Given the description of an element on the screen output the (x, y) to click on. 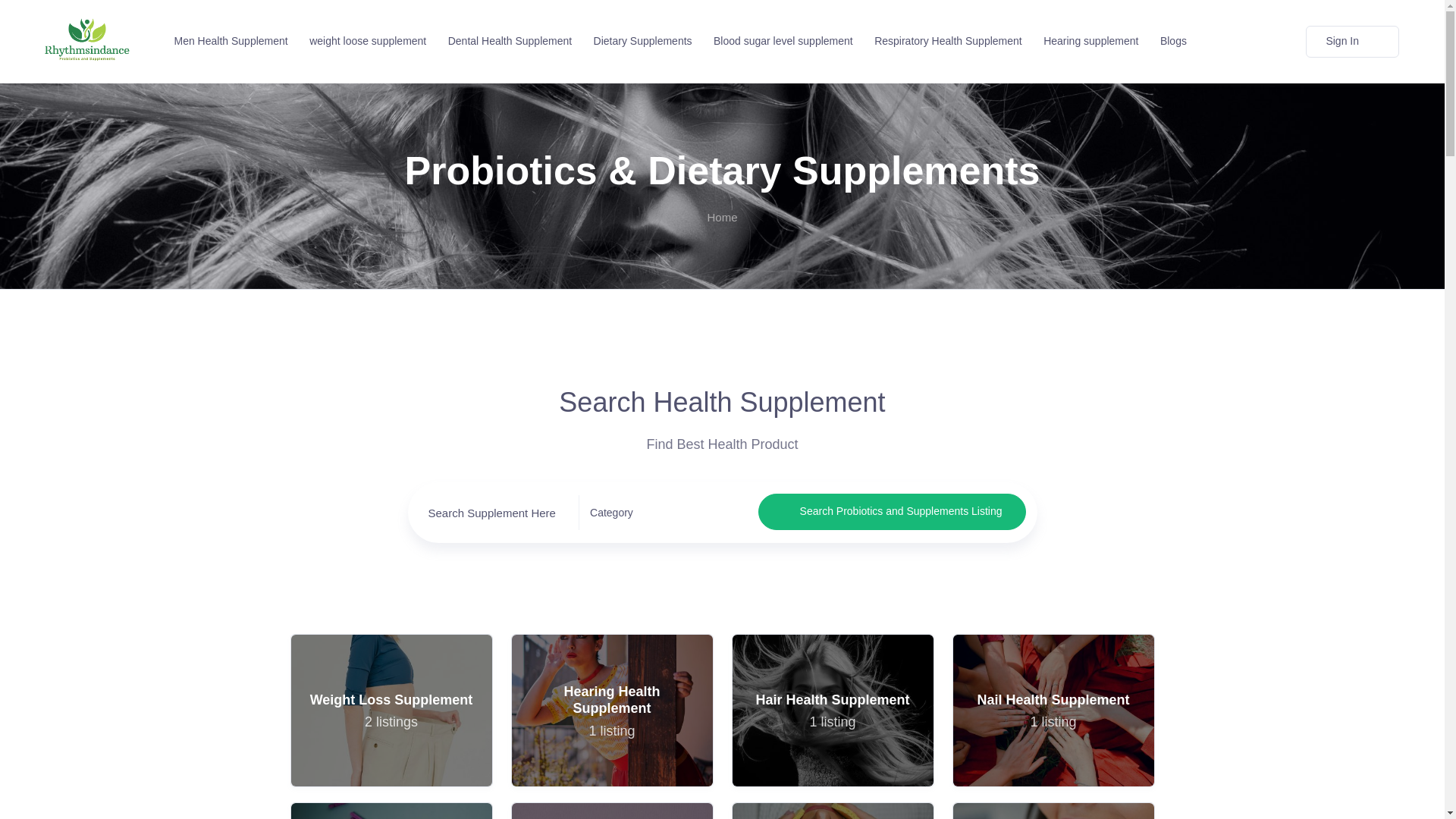
Nail Health Supplement (1052, 710)
Hearing Health Supplement (831, 710)
Brain Health Supplement (611, 710)
Dental Health Supplement (612, 710)
Blogs (611, 811)
Men Health Supplement (831, 810)
Skin Care Supplement (1052, 811)
Respiratory Health Supplement (1170, 41)
Blood Sugar Supplement (227, 41)
